Given the description of an element on the screen output the (x, y) to click on. 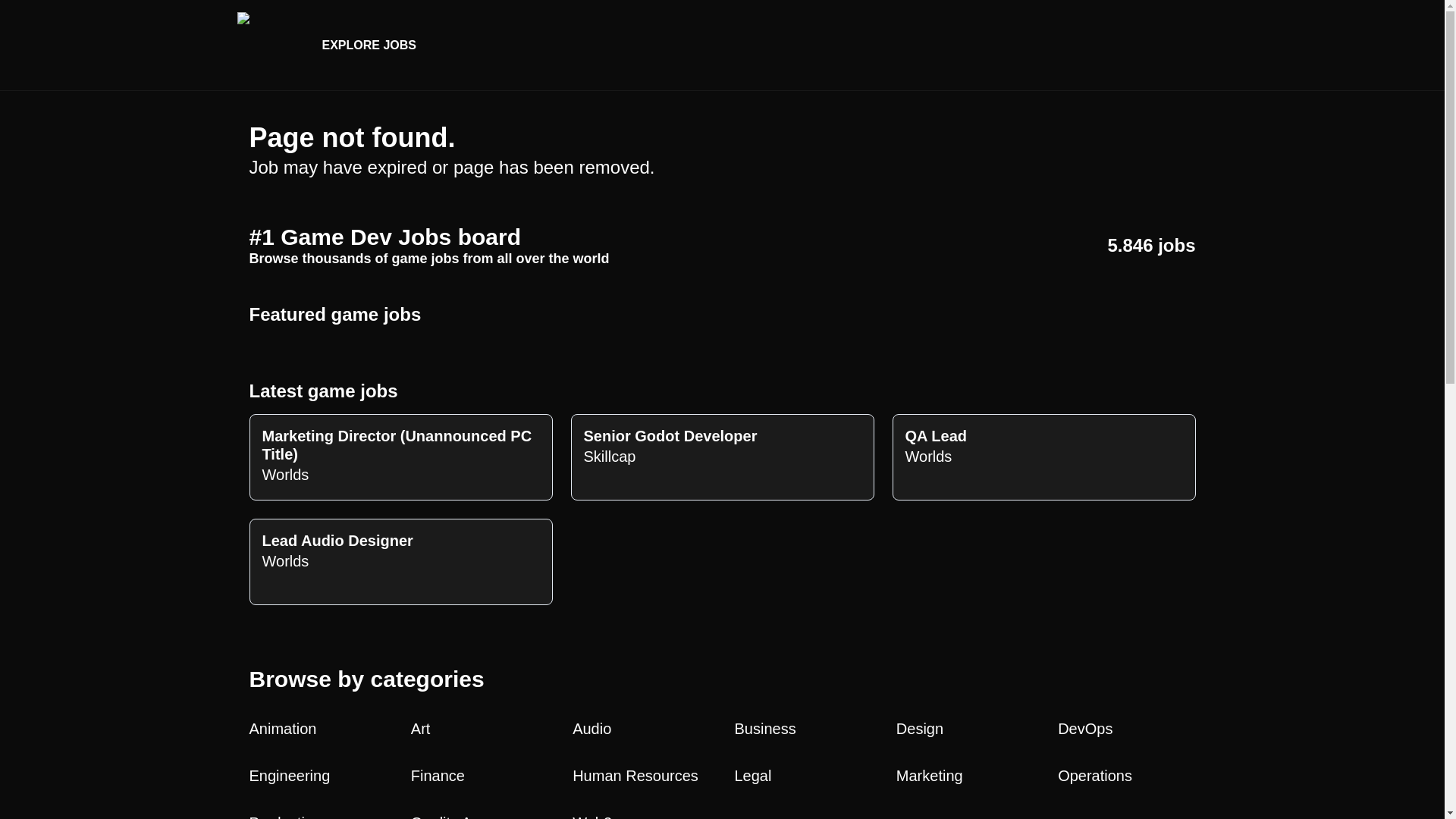
Engineering (316, 775)
GameDevJobs (266, 43)
Design (964, 728)
Finance (479, 775)
Quality Assurance (479, 815)
Production (721, 457)
Marketing (316, 815)
Art (964, 775)
Operations (479, 728)
